Given the description of an element on the screen output the (x, y) to click on. 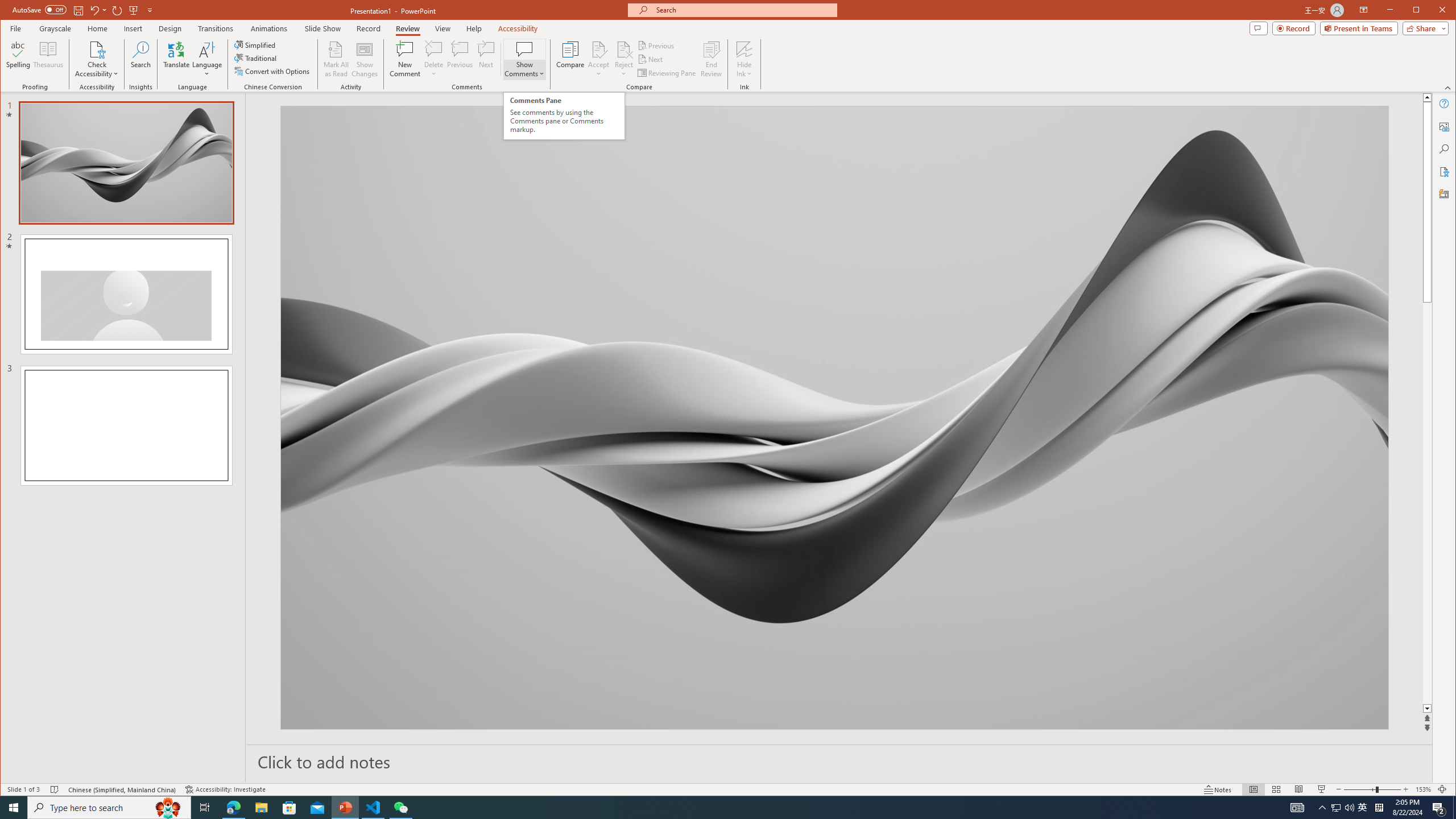
Convert with Options... (272, 70)
Q2790: 100% (1349, 807)
Hide Ink (744, 48)
Grayscale (55, 28)
Tray Input Indicator - Chinese (Simplified, China) (1378, 807)
Language (207, 59)
Delete (433, 59)
Show Changes (365, 59)
